Given the description of an element on the screen output the (x, y) to click on. 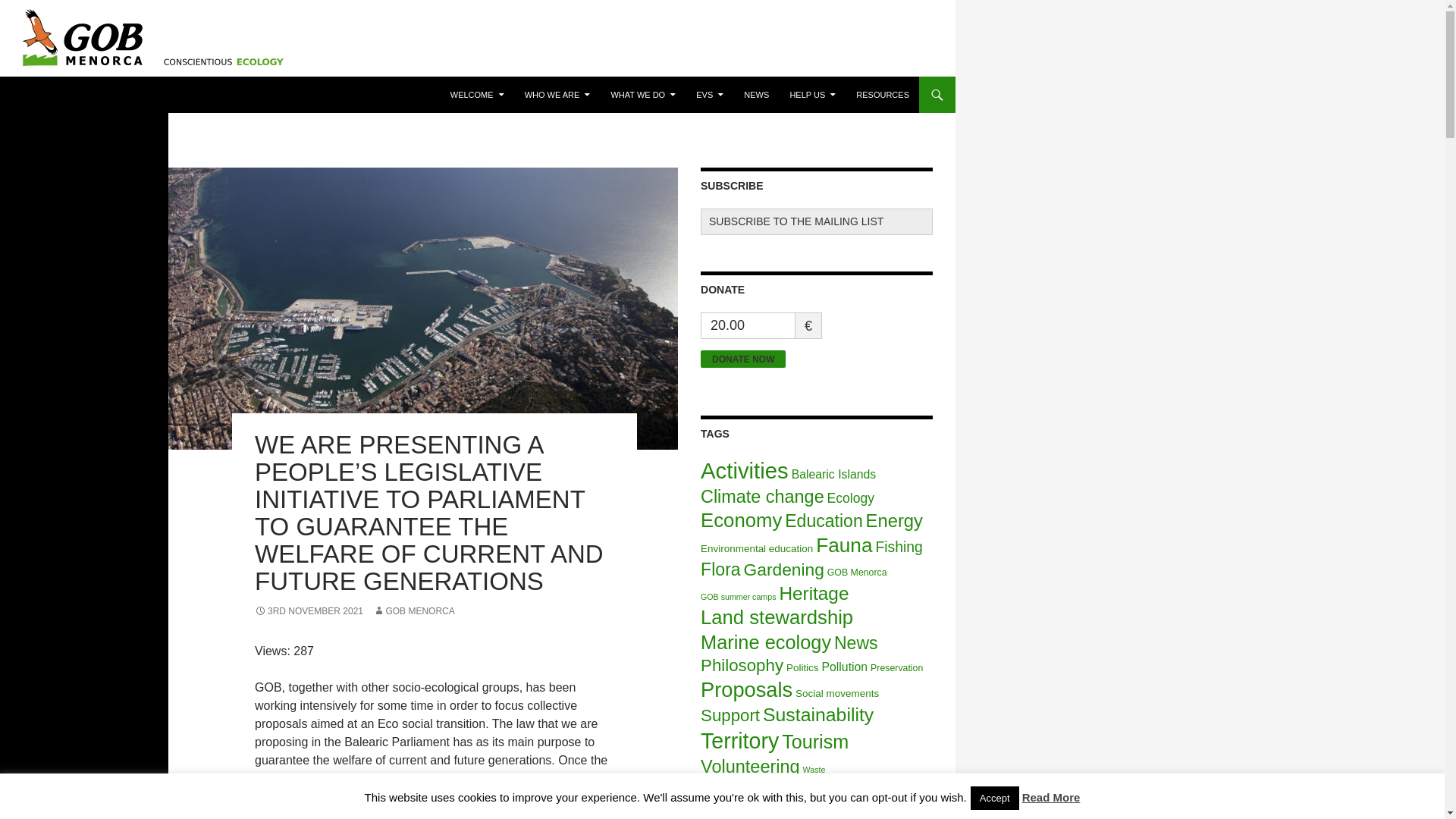
WELCOME (477, 94)
GOB Menorca (68, 94)
HELP US (812, 94)
NEWS (756, 94)
WHAT WE DO (642, 94)
20.00 (747, 325)
3RD NOVEMBER 2021 (308, 611)
RESOURCES (882, 94)
EVS (709, 94)
GOB MENORCA (413, 611)
